Given the description of an element on the screen output the (x, y) to click on. 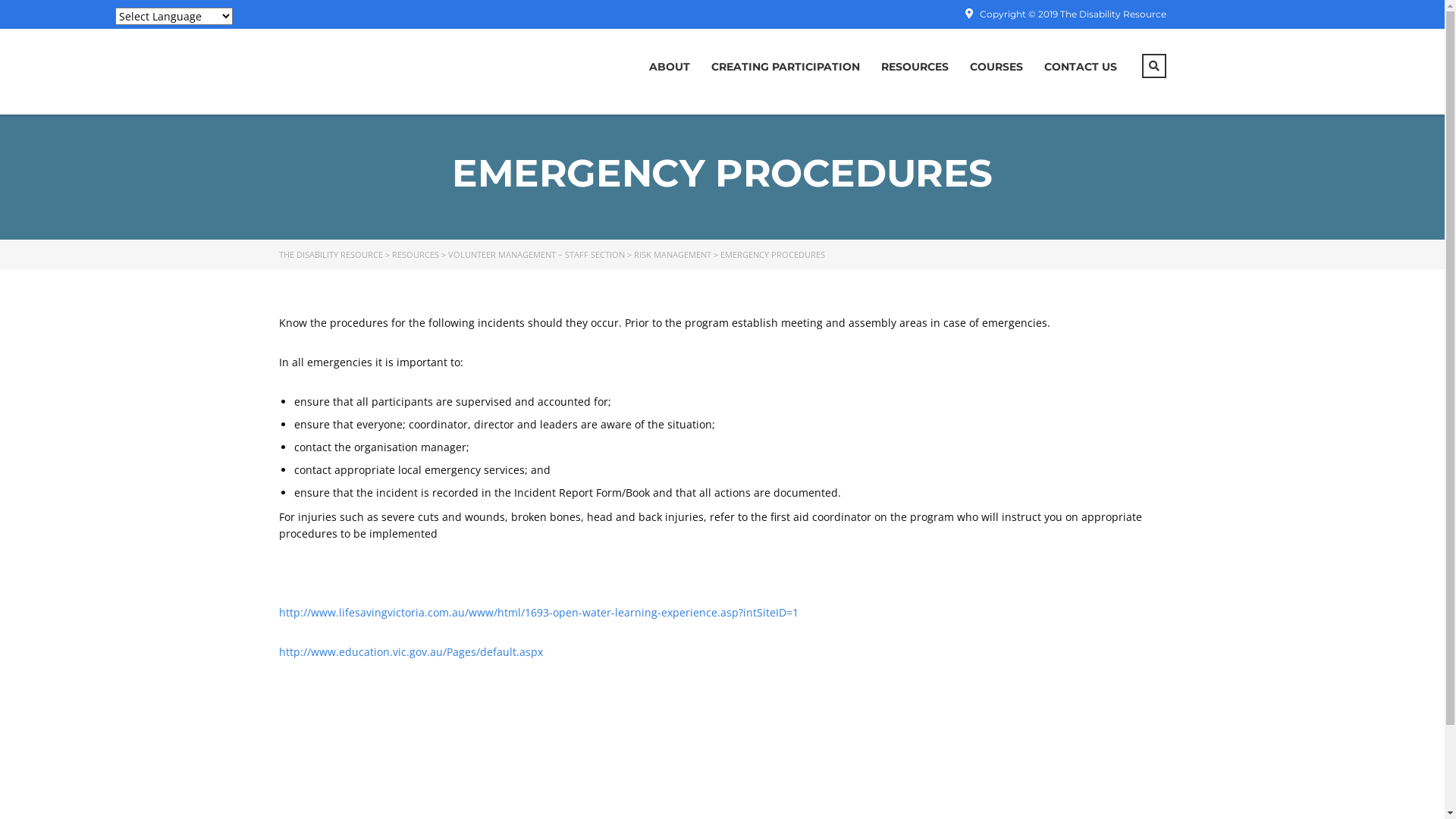
CREATING PARTICIPATION Element type: text (785, 66)
http://www.education.vic.gov.au/Pages/default.aspx Element type: text (410, 651)
ABOUT Element type: text (669, 66)
RESOURCES Element type: text (914, 66)
RISK MANAGEMENT Element type: text (672, 254)
COURSES Element type: text (995, 66)
CONTACT US Element type: text (1079, 66)
VIEW COURSES Element type: text (332, 554)
RESOURCES Element type: text (414, 254)
THE DISABILITY RESOURCE Element type: text (330, 254)
DOWNLOAD Element type: text (330, 683)
